Given the description of an element on the screen output the (x, y) to click on. 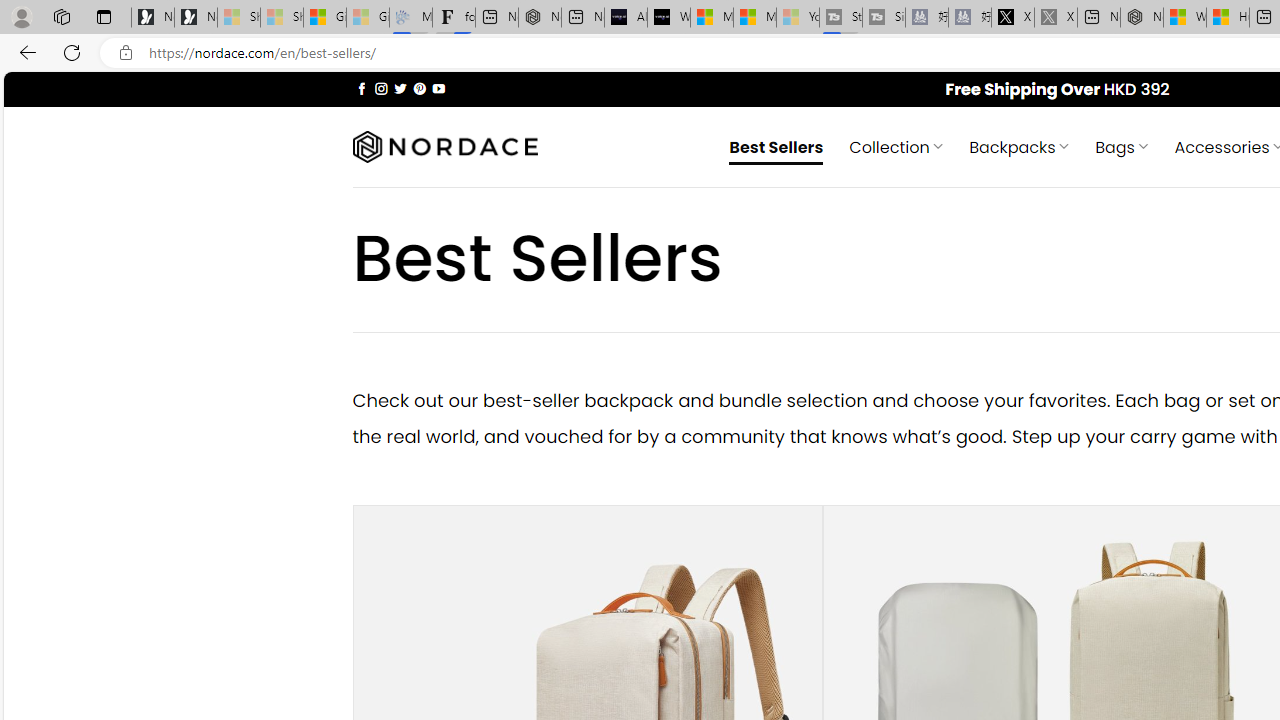
AI Voice Changer for PC and Mac - Voice.ai (625, 17)
Nordace - My Account (1142, 17)
